Given the description of an element on the screen output the (x, y) to click on. 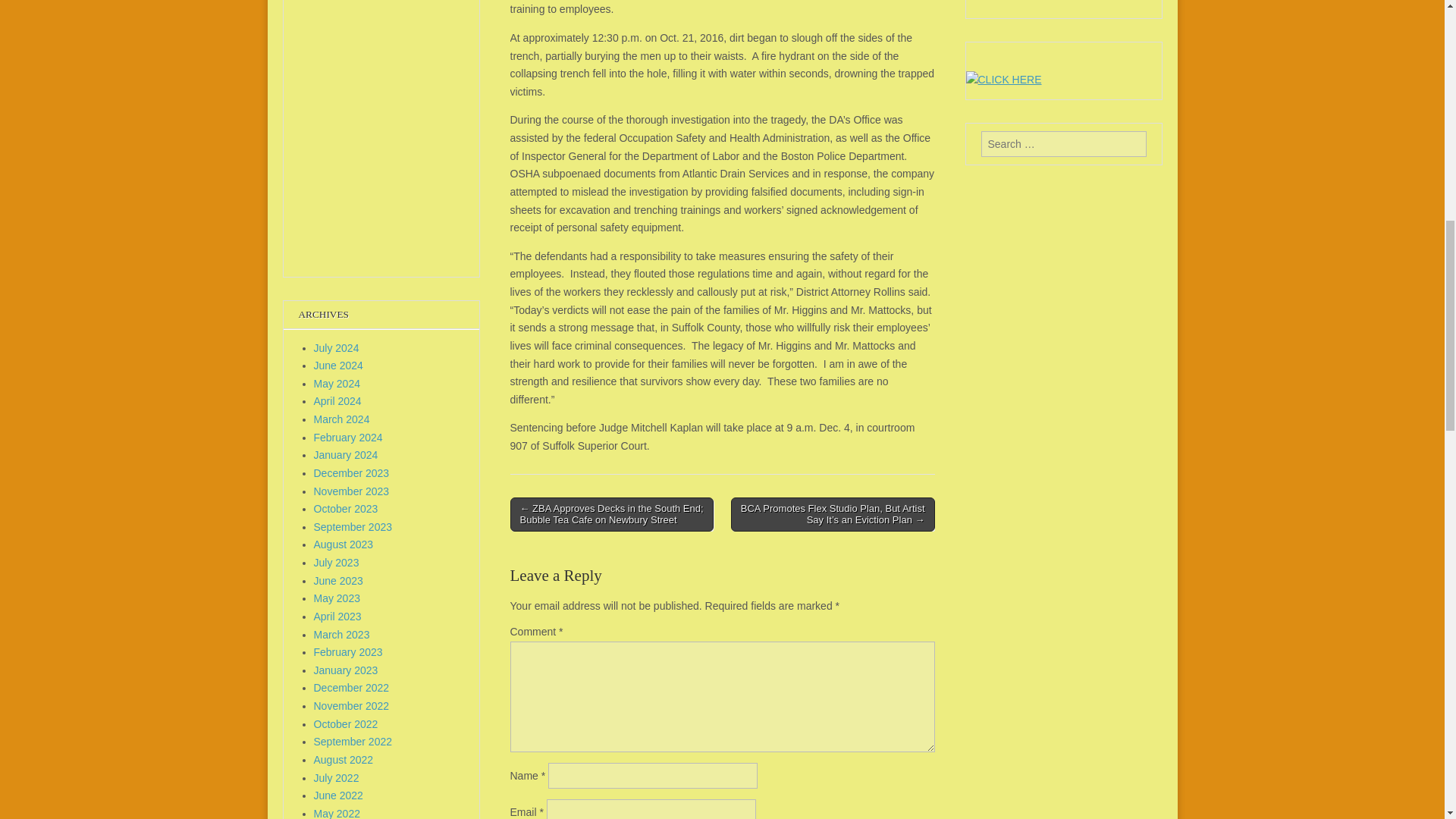
March 2024 (341, 419)
February 2024 (348, 437)
December 2023 (352, 472)
July 2024 (336, 347)
January 2024 (346, 454)
June 2024 (338, 365)
April 2024 (337, 400)
May 2024 (336, 383)
